Given the description of an element on the screen output the (x, y) to click on. 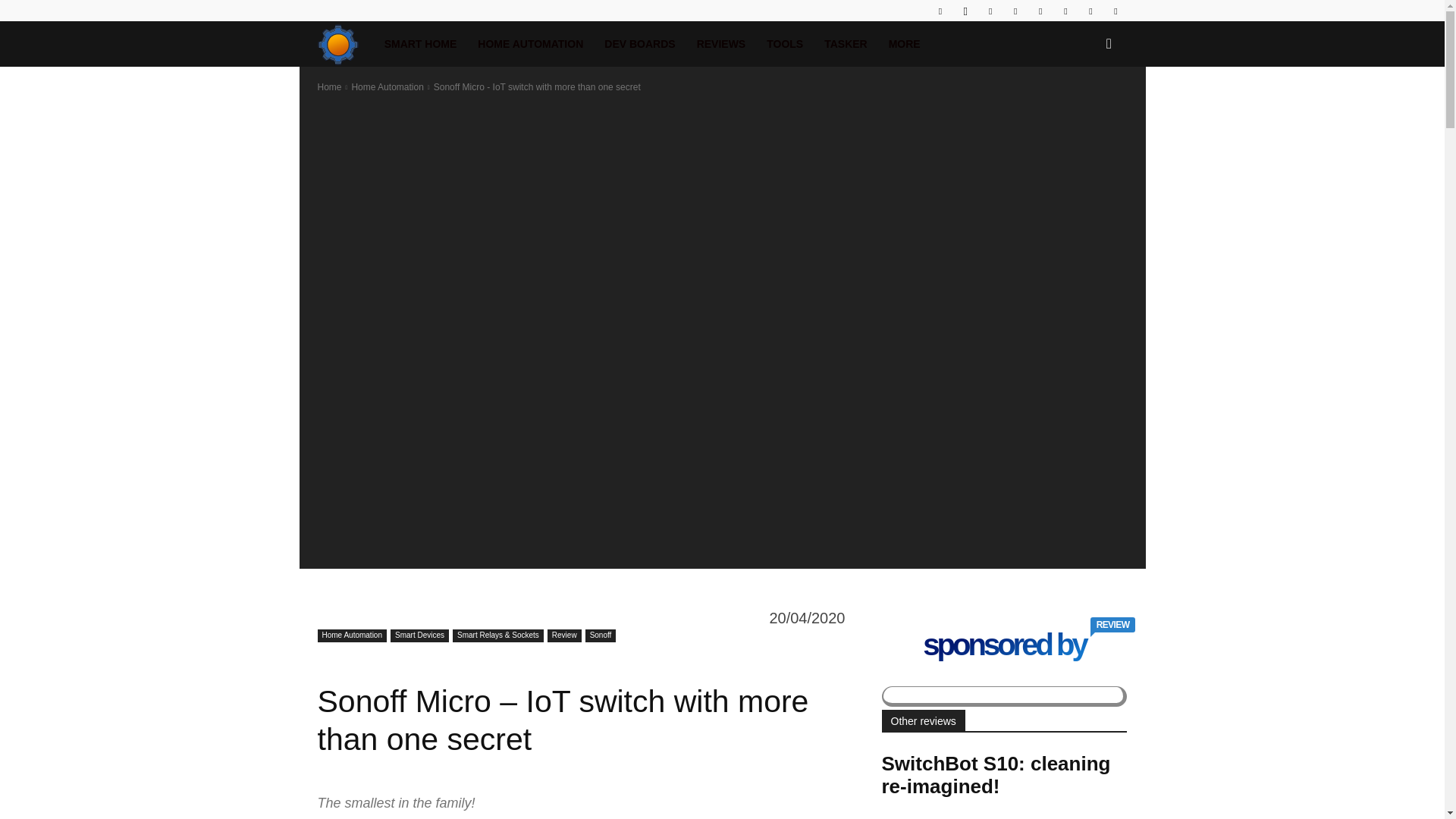
Paypal (1015, 10)
Reddit (1040, 10)
Twitch (1065, 10)
Linkedin (989, 10)
Instagram (964, 10)
Facebook (940, 10)
